Given the description of an element on the screen output the (x, y) to click on. 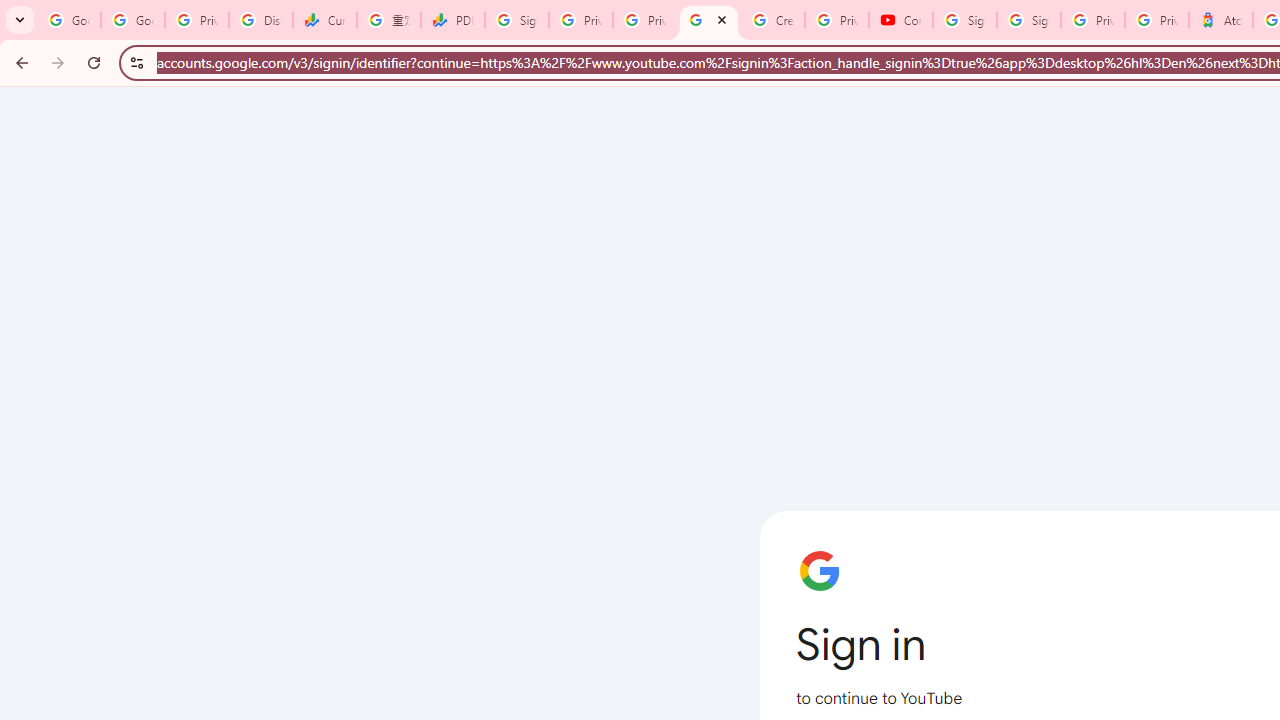
PDD Holdings Inc - ADR (PDD) Price & News - Google Finance (453, 20)
Content Creator Programs & Opportunities - YouTube Creators (901, 20)
YouTube (709, 20)
Create your Google Account (773, 20)
Sign in - Google Accounts (1029, 20)
